Given the description of an element on the screen output the (x, y) to click on. 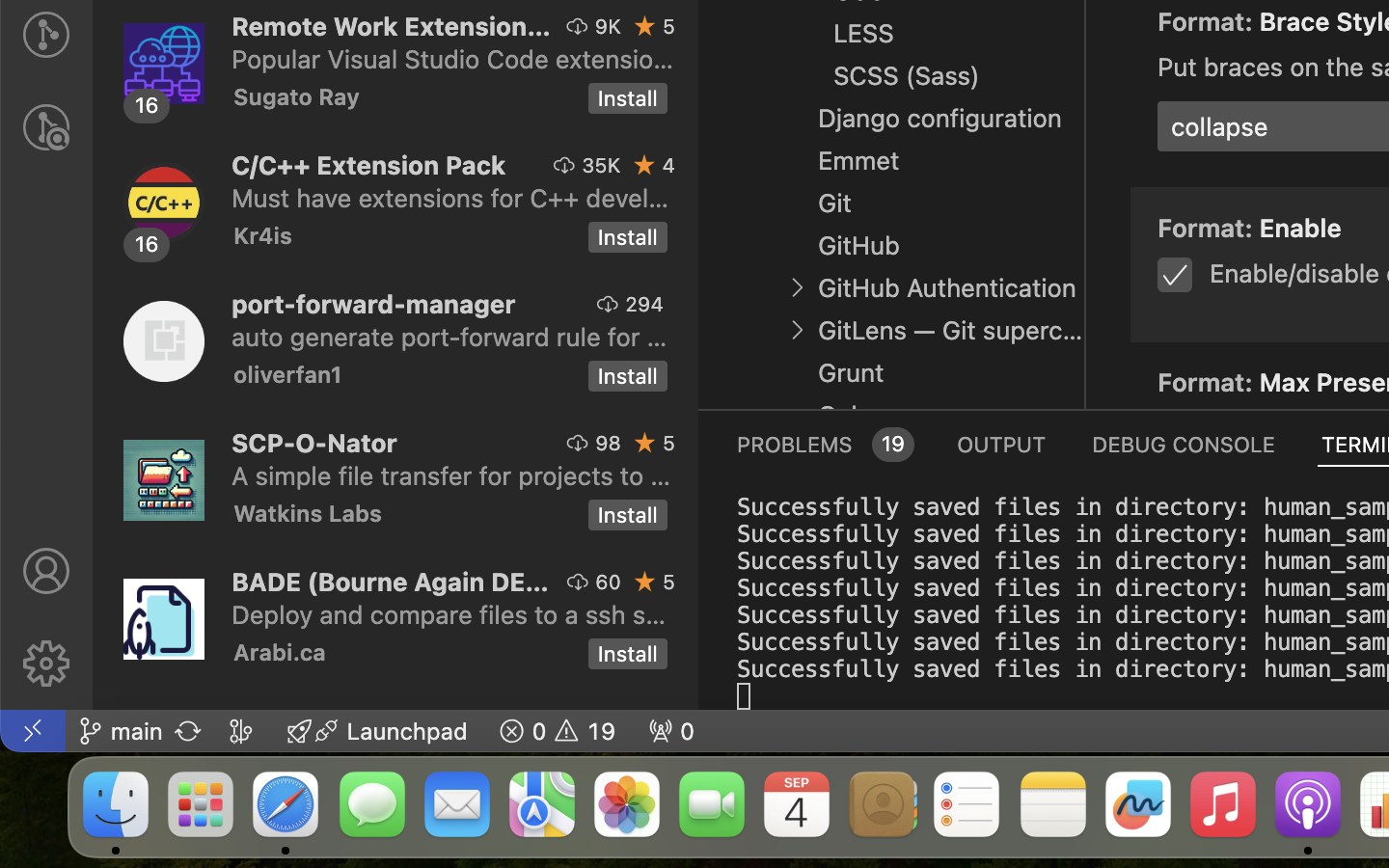
main  Element type: AXButton (120, 730)
Popular Visual Studio Code extensions for Remote Work Element type: AXStaticText (453, 58)
0  Element type: AXRadioButton (46, 127)
35K Element type: AXStaticText (601, 164)
 Element type: AXStaticText (46, 663)
